Given the description of an element on the screen output the (x, y) to click on. 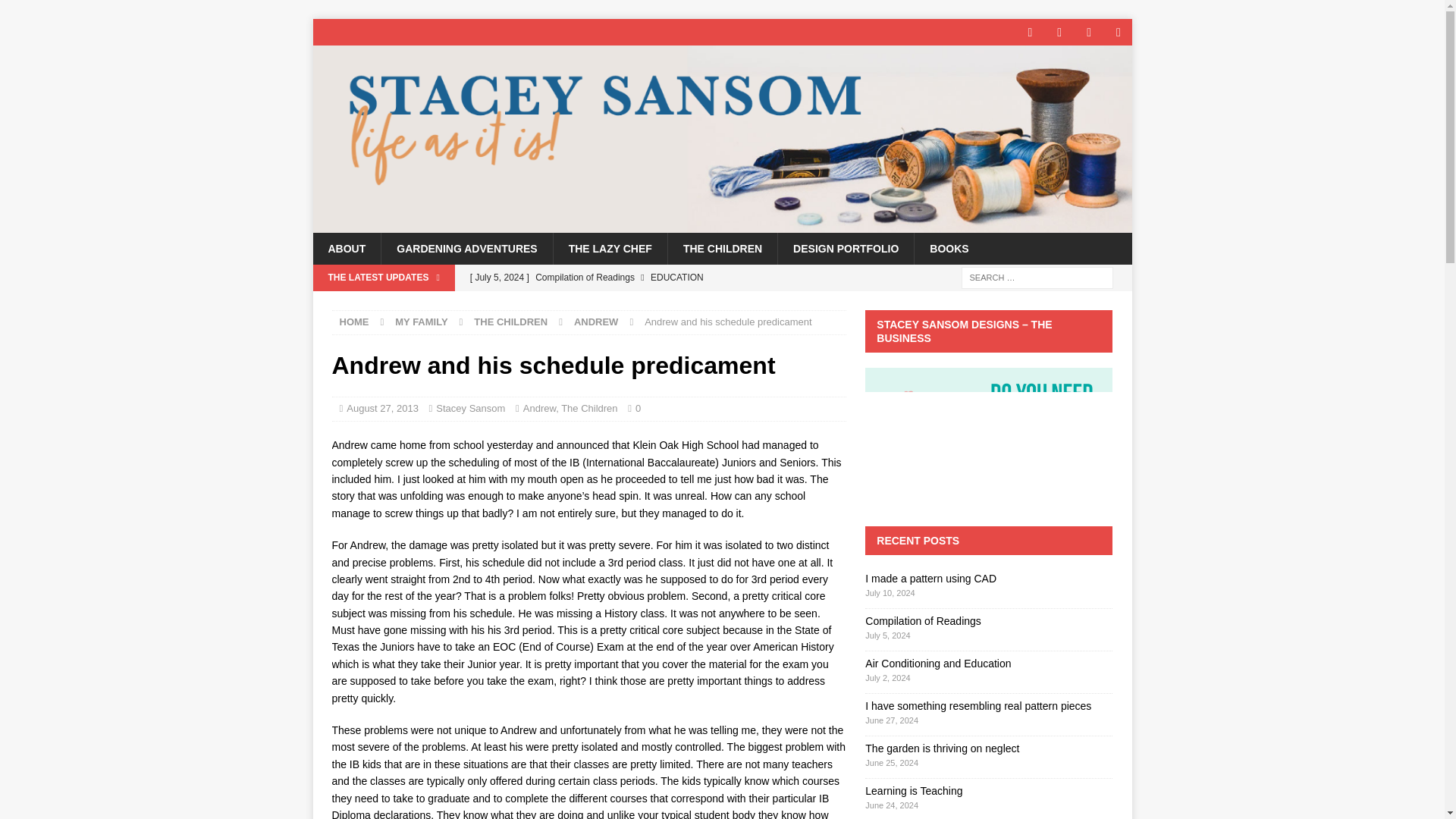
Compilation of Readings (653, 277)
THE LAZY CHEF (609, 248)
Andrew (539, 408)
ANDREW (595, 321)
Stacey Sansom (722, 223)
GARDENING ADVENTURES (465, 248)
BOOKS (949, 248)
Search (56, 11)
The Children (588, 408)
Air Conditioning and Education (653, 303)
THE CHILDREN (721, 248)
DESIGN PORTFOLIO (845, 248)
MY FAMILY (420, 321)
August 27, 2013 (382, 408)
ABOUT (346, 248)
